Given the description of an element on the screen output the (x, y) to click on. 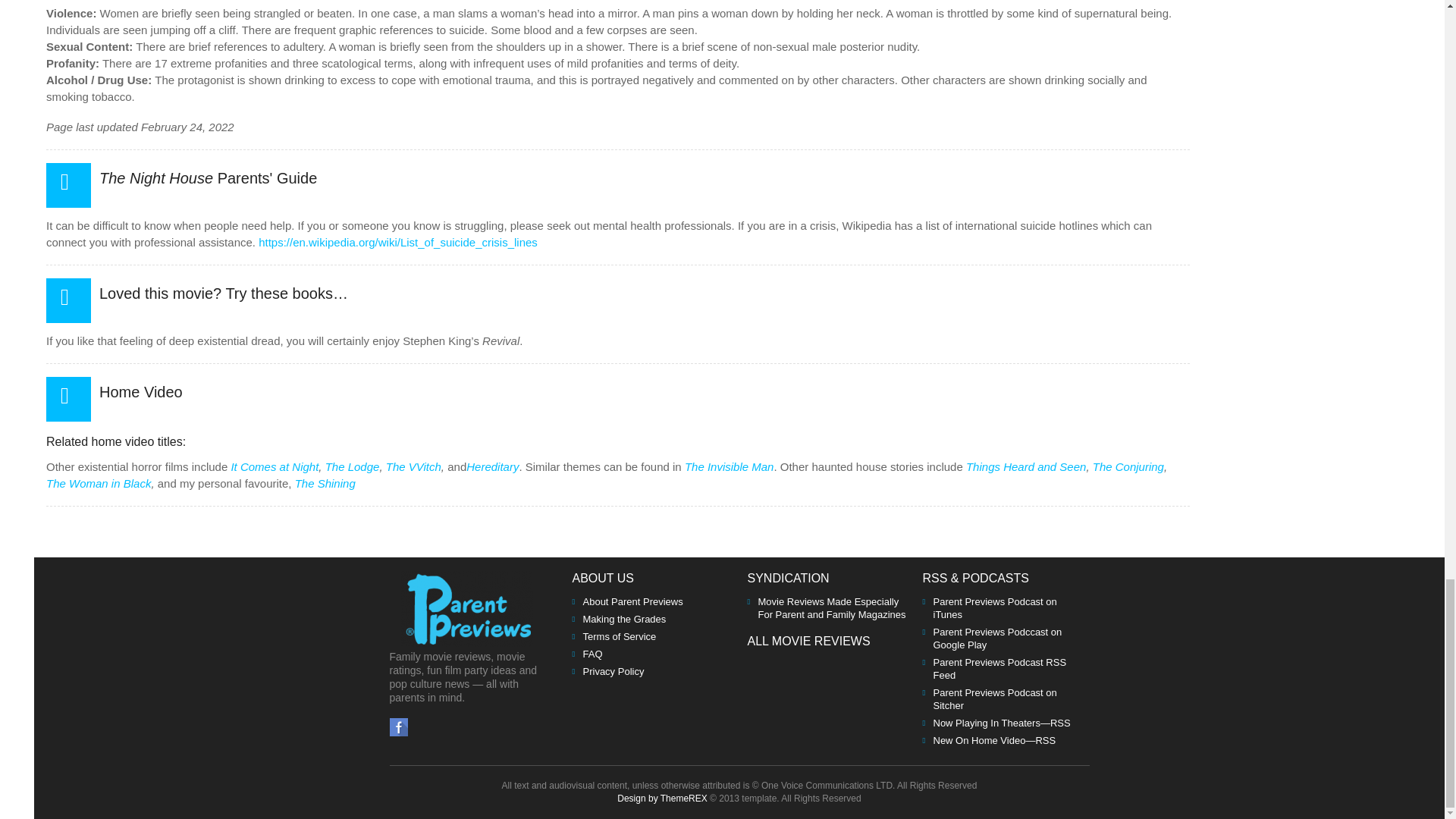
Things Heard and Seen (1026, 466)
The Shining (325, 482)
Hereditary (491, 466)
The VVitch (413, 466)
The Invisible Man (729, 466)
It Comes at Night (274, 466)
The Conjuring (1128, 466)
The Lodge (352, 466)
The Woman in Black (98, 482)
